Given the description of an element on the screen output the (x, y) to click on. 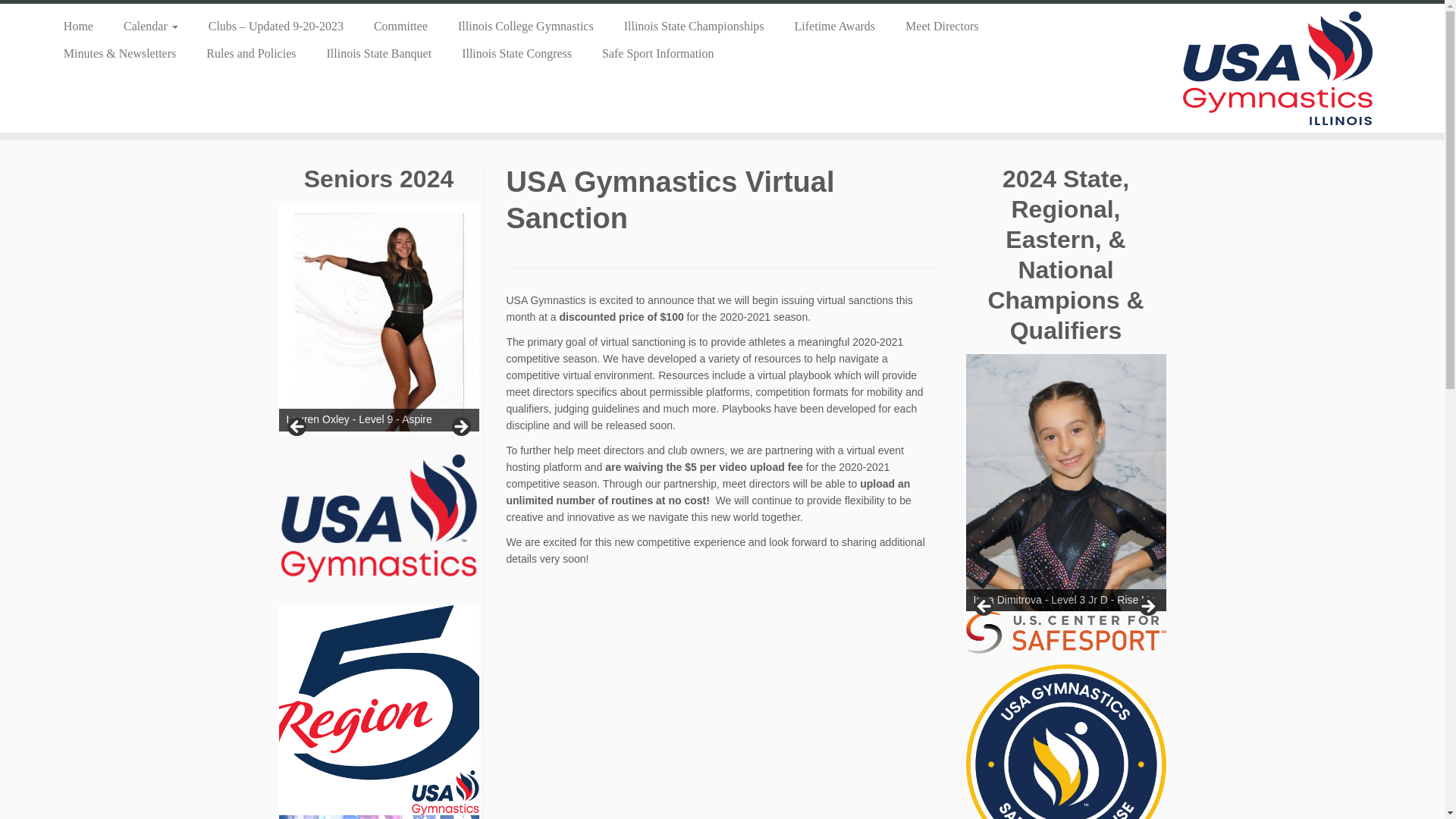
Next (459, 427)
Previous (297, 427)
Committee (400, 26)
Illinois State Congress (516, 53)
Next (1146, 607)
Illinois College Gymnastics (525, 26)
Calendar (150, 26)
Meet Directors (940, 26)
Previous (984, 607)
Illinois State Banquet (378, 53)
Safe Sport Information (650, 53)
Lifetime Awards (834, 26)
Home (77, 26)
Rules and Policies (250, 53)
Illinois State Championships (693, 26)
